Given the description of an element on the screen output the (x, y) to click on. 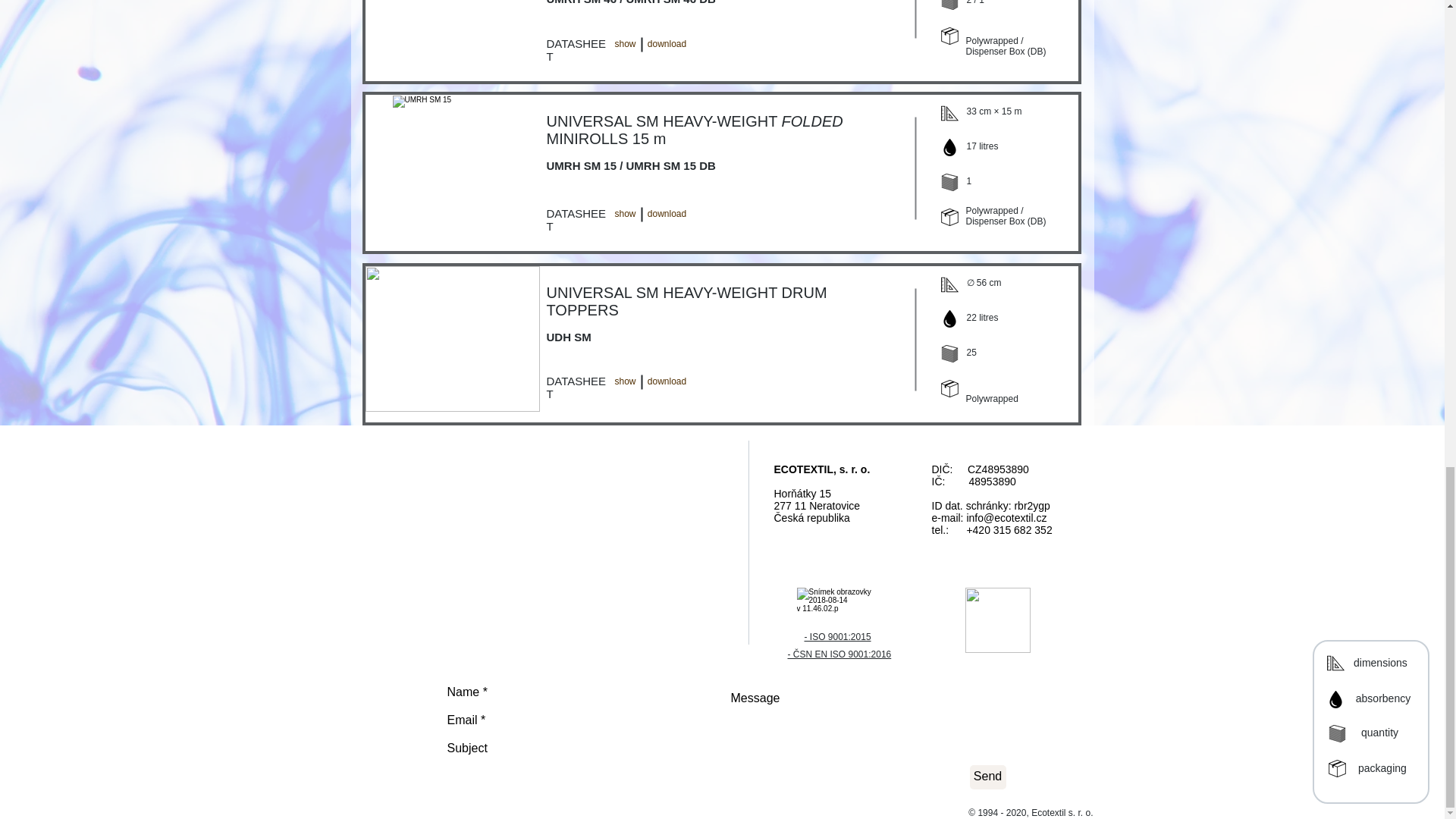
stacked-print-products.png (949, 181)
show (625, 214)
download (667, 214)
- ISO 9001:2015 (836, 636)
Send (987, 776)
drop-silhouette.png (949, 147)
download (667, 381)
download (667, 44)
stacked-print-products.png (949, 4)
measuring-and-drawing-tools.png (949, 113)
box-closed.png (949, 36)
Webmaster Login (1242, 480)
show (625, 44)
show (625, 381)
